Given the description of an element on the screen output the (x, y) to click on. 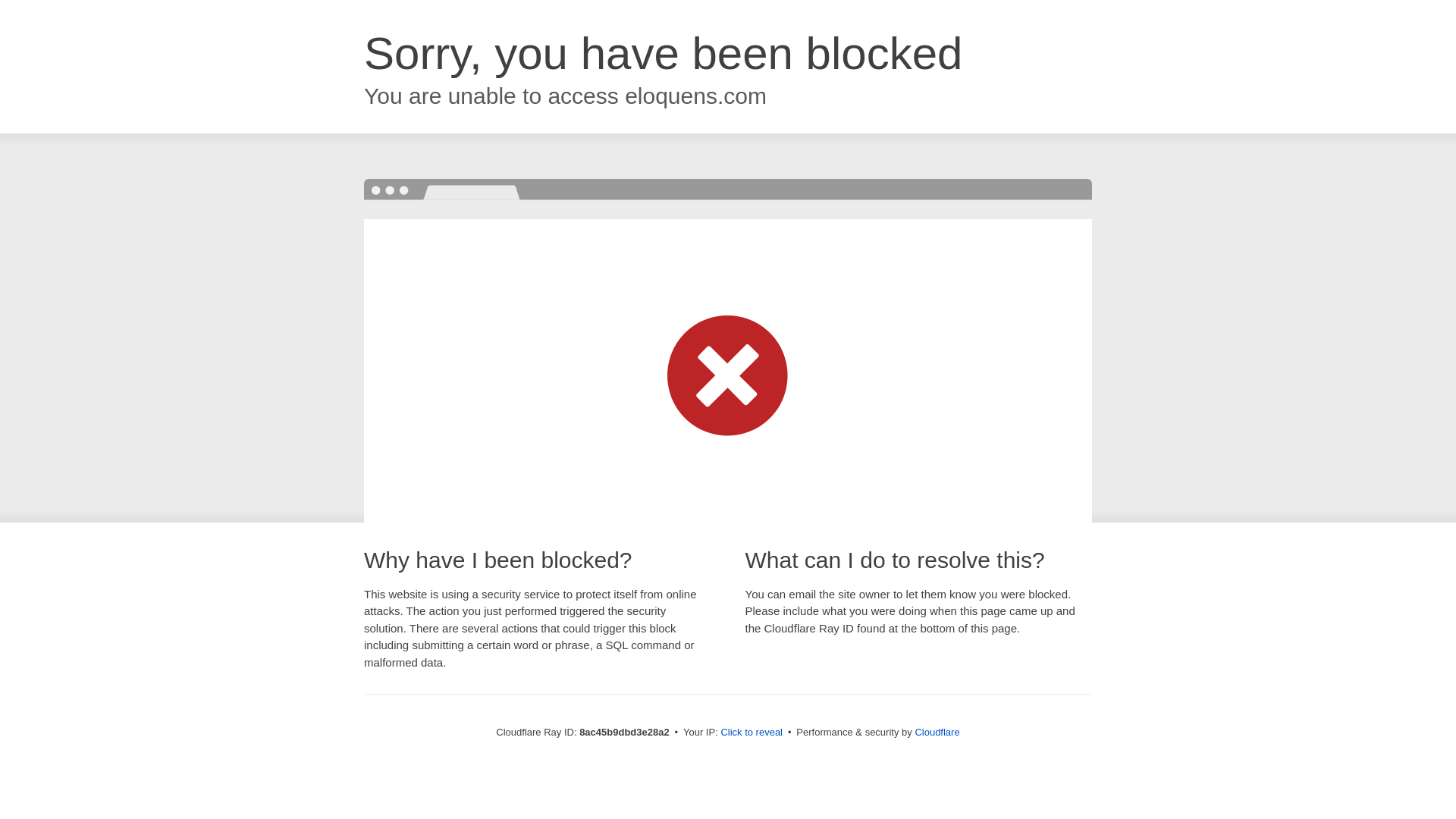
Cloudflare (936, 731)
Click to reveal (751, 732)
